Given the description of an element on the screen output the (x, y) to click on. 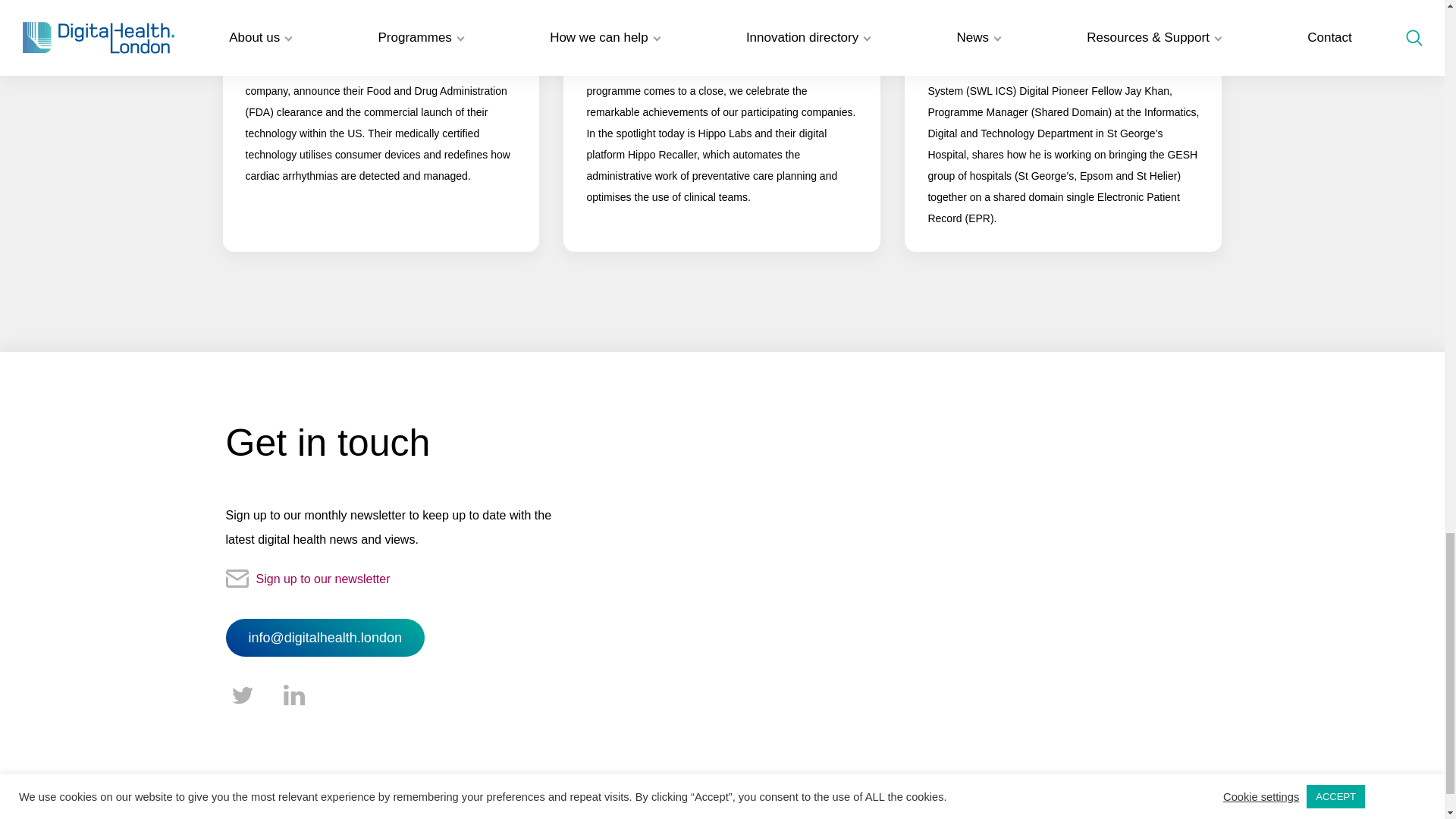
LinkedIn (294, 695)
Twitter (242, 695)
